Given the description of an element on the screen output the (x, y) to click on. 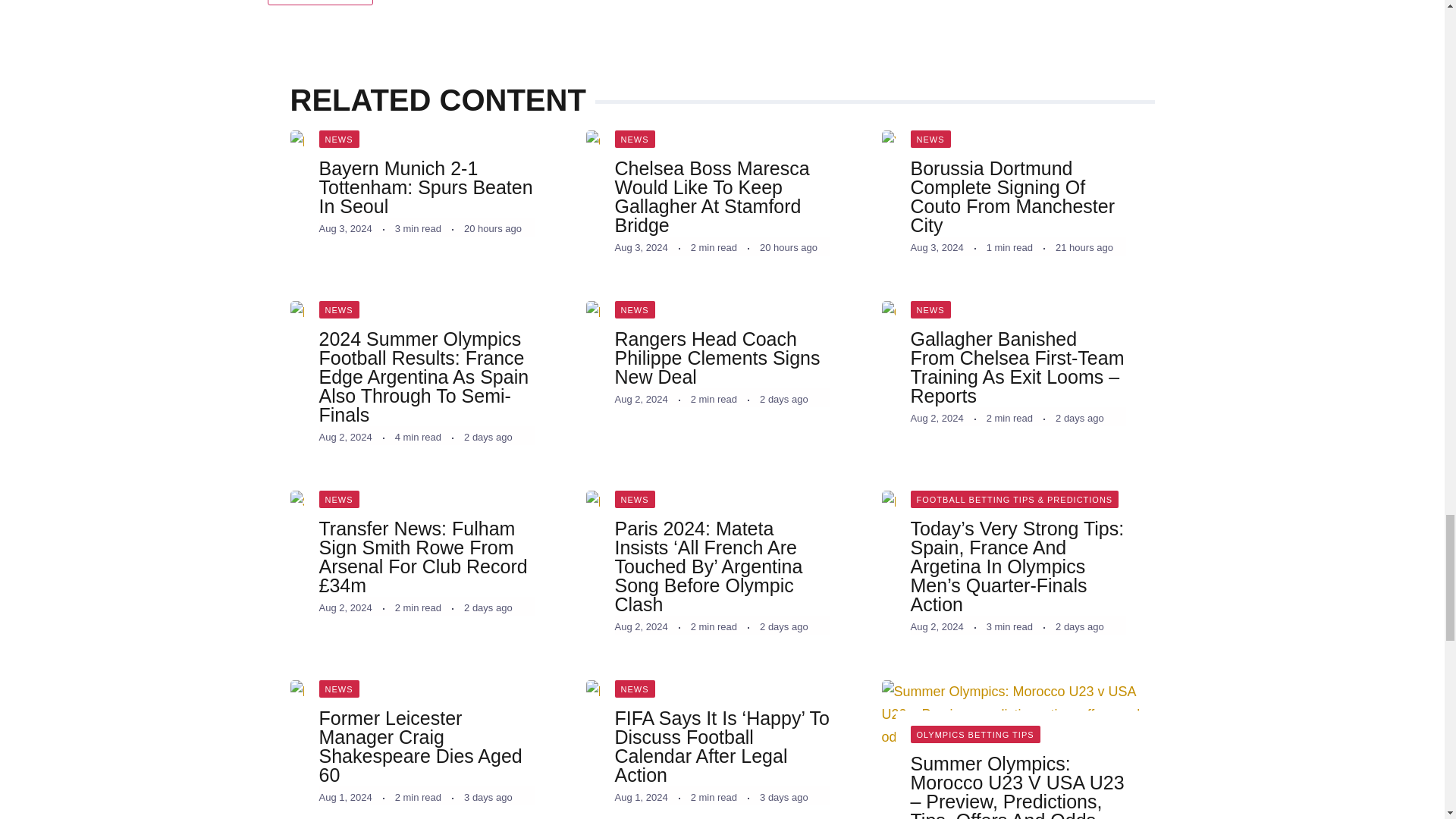
Post Comment (319, 2)
